Given the description of an element on the screen output the (x, y) to click on. 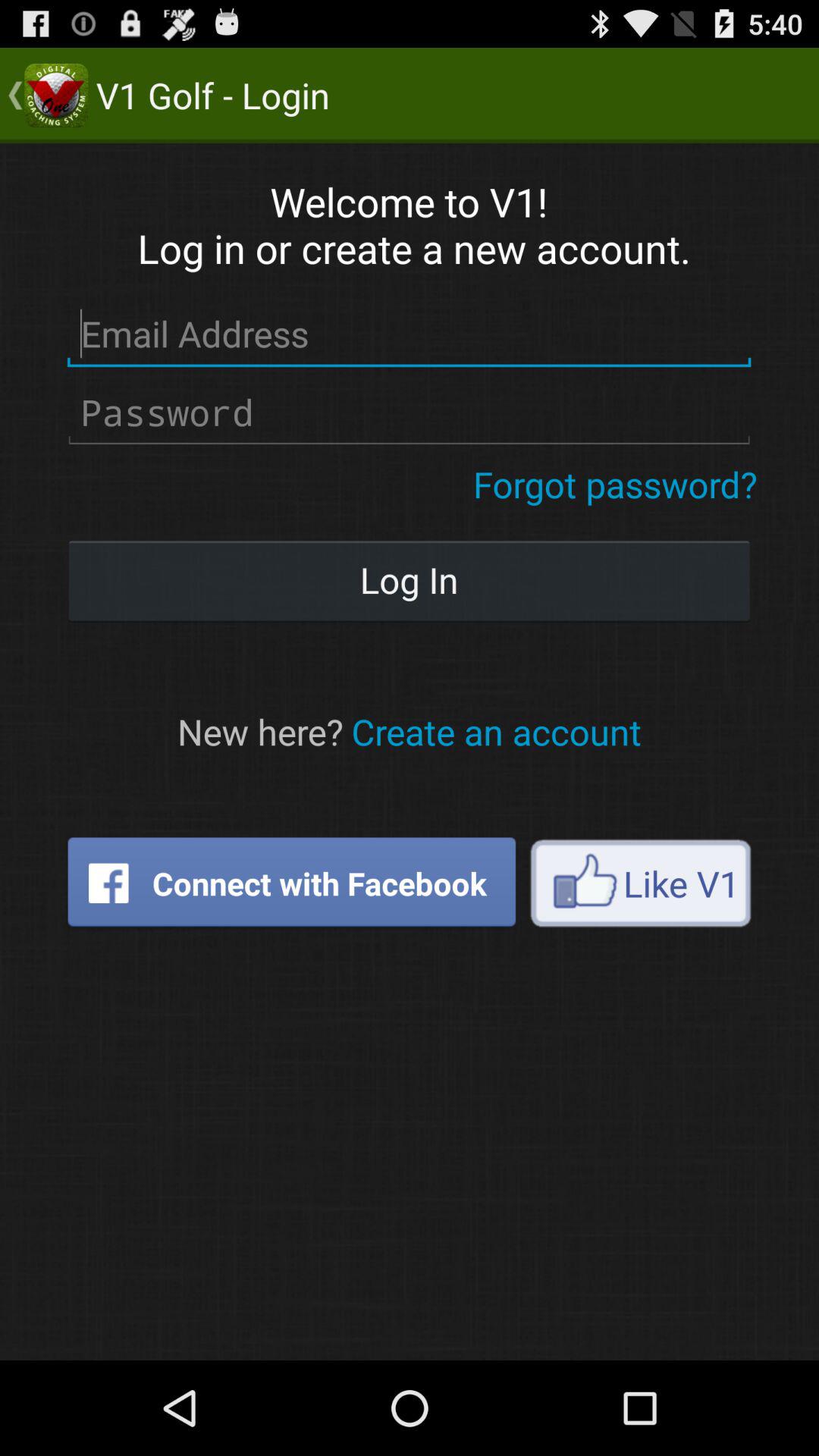
open email address input field (408, 334)
